Given the description of an element on the screen output the (x, y) to click on. 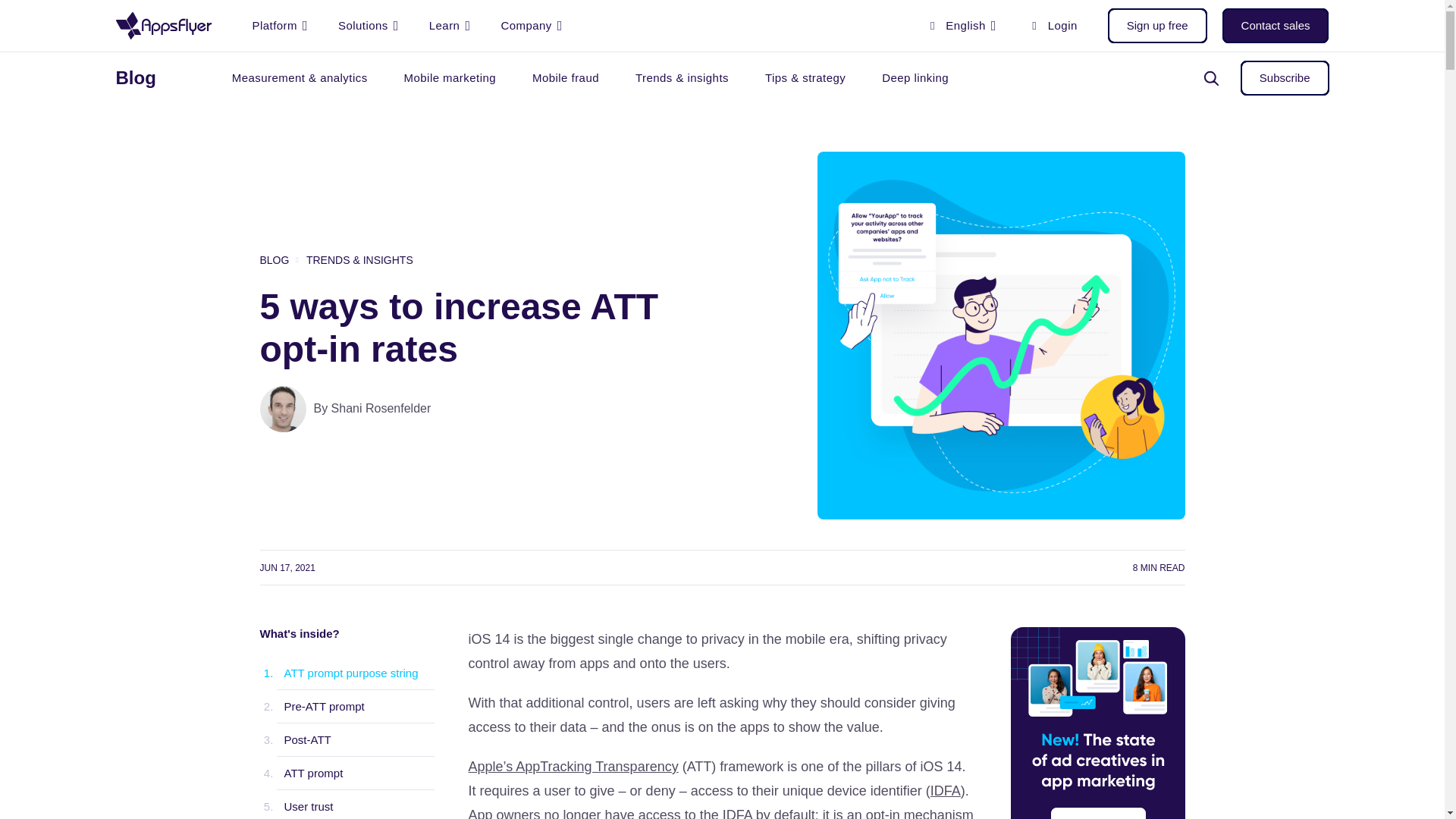
Solutions (368, 25)
Platform (278, 25)
Platform (278, 25)
Solutions (368, 25)
